Given the description of an element on the screen output the (x, y) to click on. 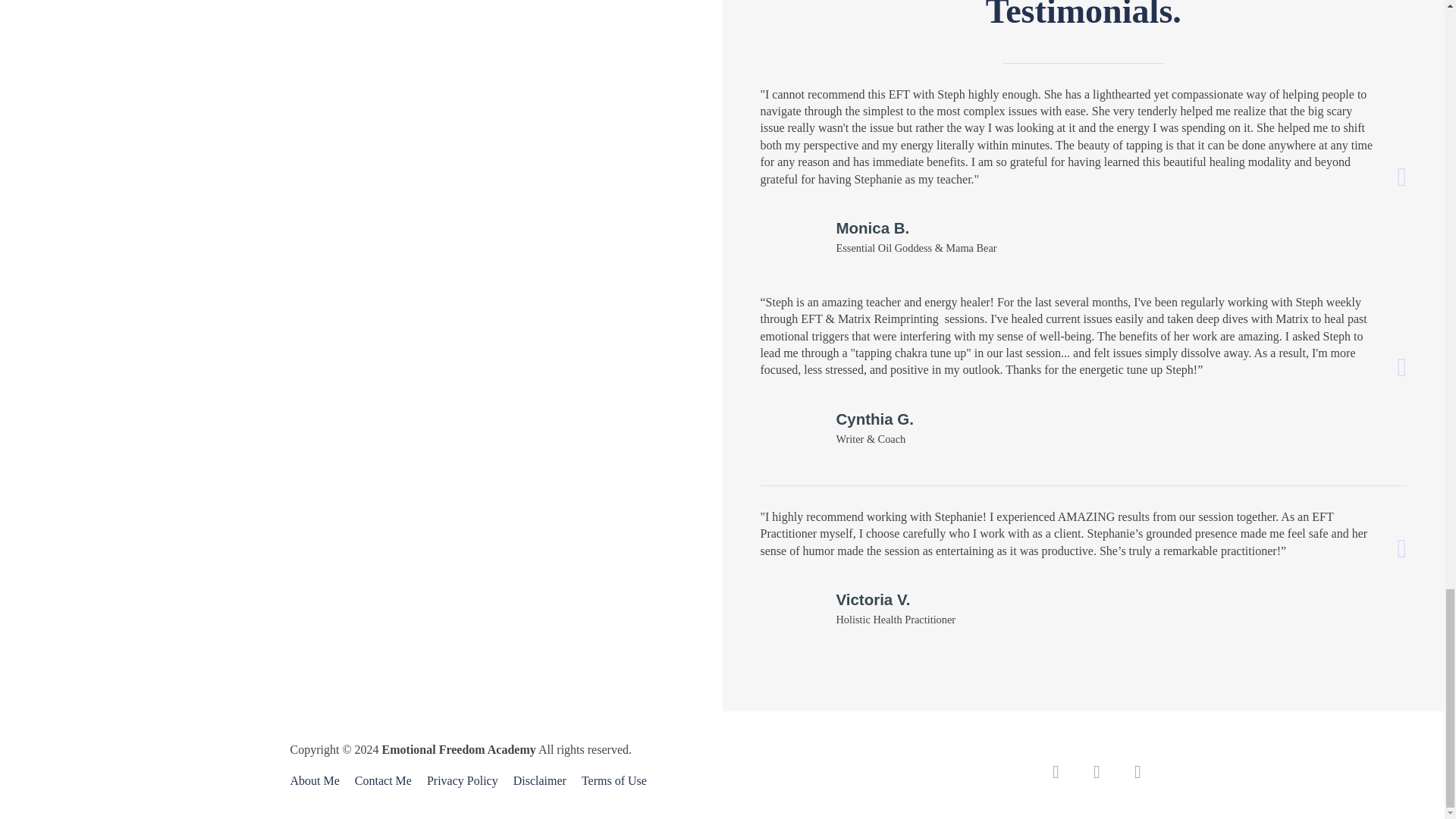
Disclaimer (539, 780)
Terms of Use (609, 780)
Privacy Policy (462, 780)
About Me (317, 780)
Contact Me (383, 780)
